Given the description of an element on the screen output the (x, y) to click on. 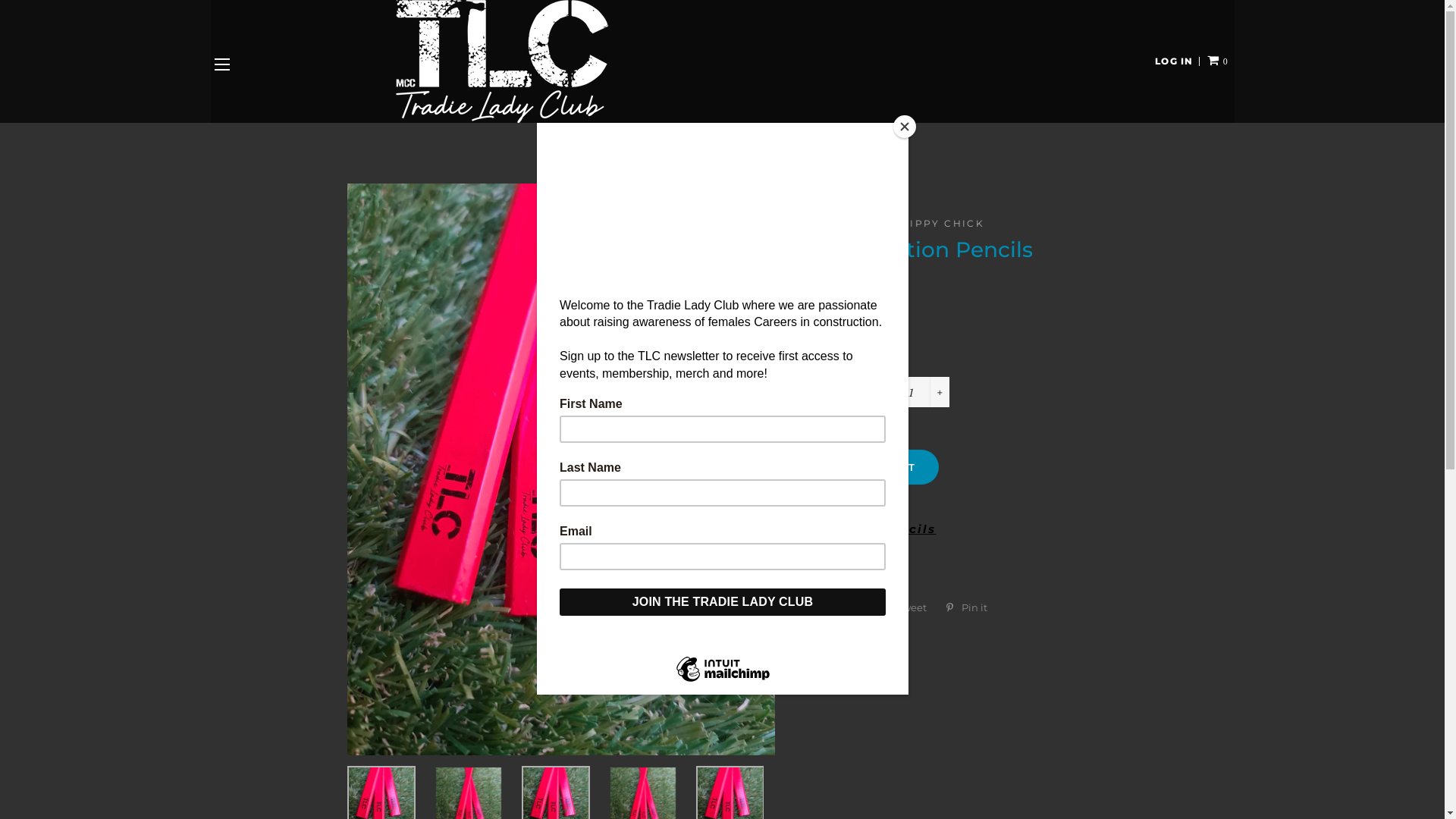
Pin it
Pin on Pinterest Element type: text (965, 607)
0 Element type: text (1217, 61)
LOG IN Element type: text (1173, 61)
+ Element type: text (939, 391)
Share
Share on Facebook Element type: text (839, 607)
Tweet
Tweet on Twitter Element type: text (903, 607)
ADD TO CART Element type: text (873, 466)
